Given the description of an element on the screen output the (x, y) to click on. 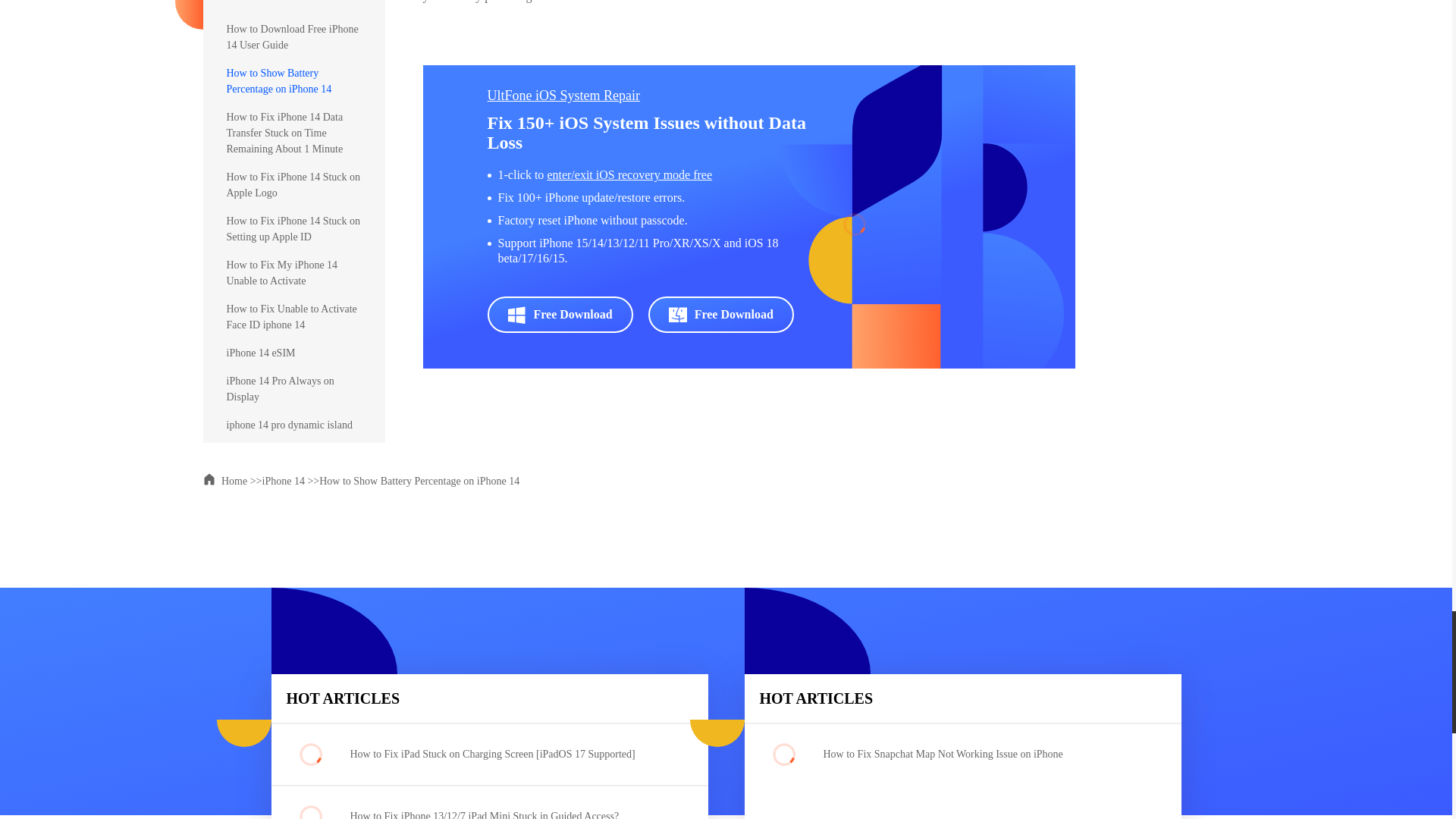
How to Fix Snapchat Map Not Working Issue on iPhone (971, 754)
